Given the description of an element on the screen output the (x, y) to click on. 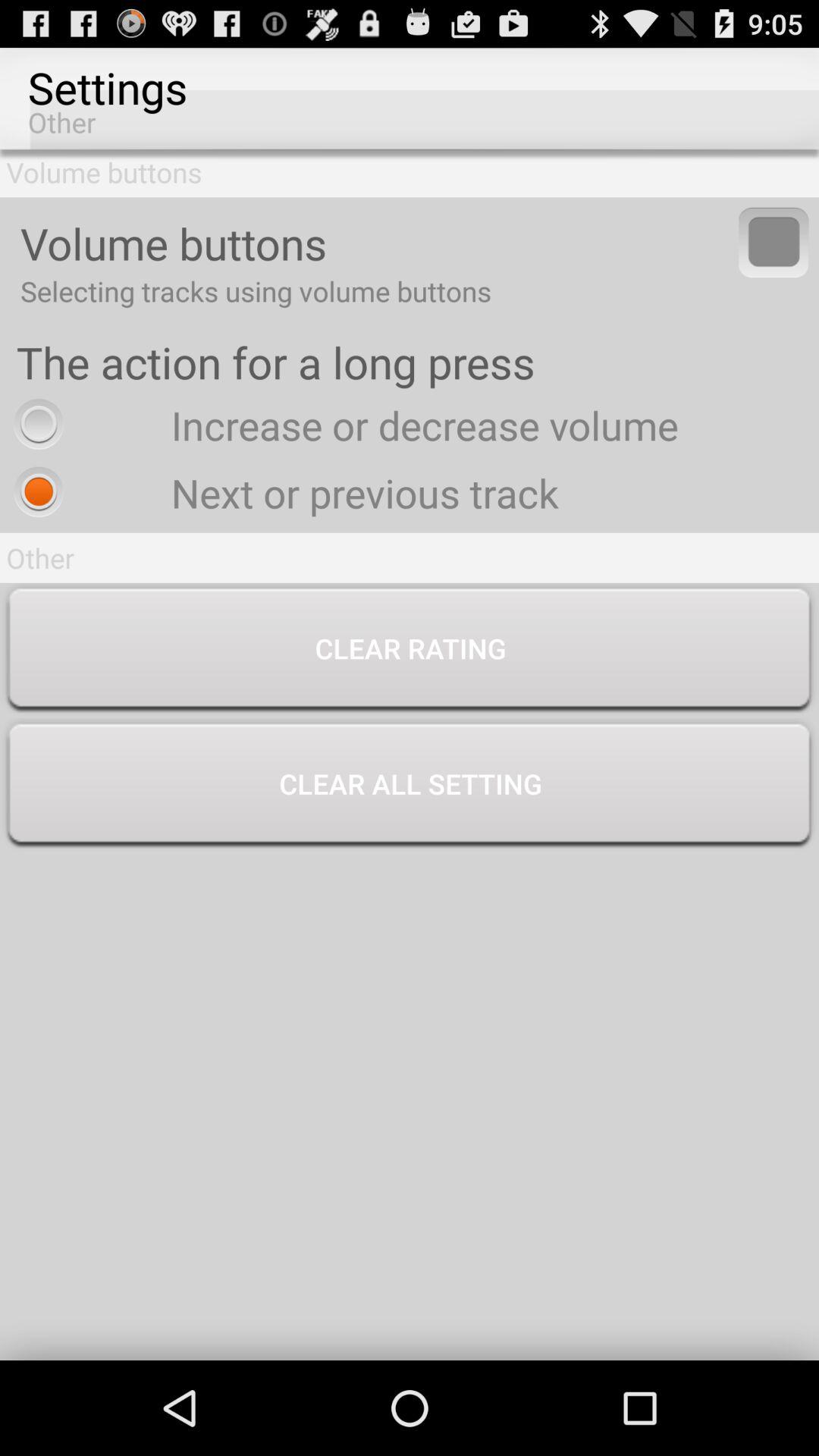
select volume buttons (773, 242)
